Given the description of an element on the screen output the (x, y) to click on. 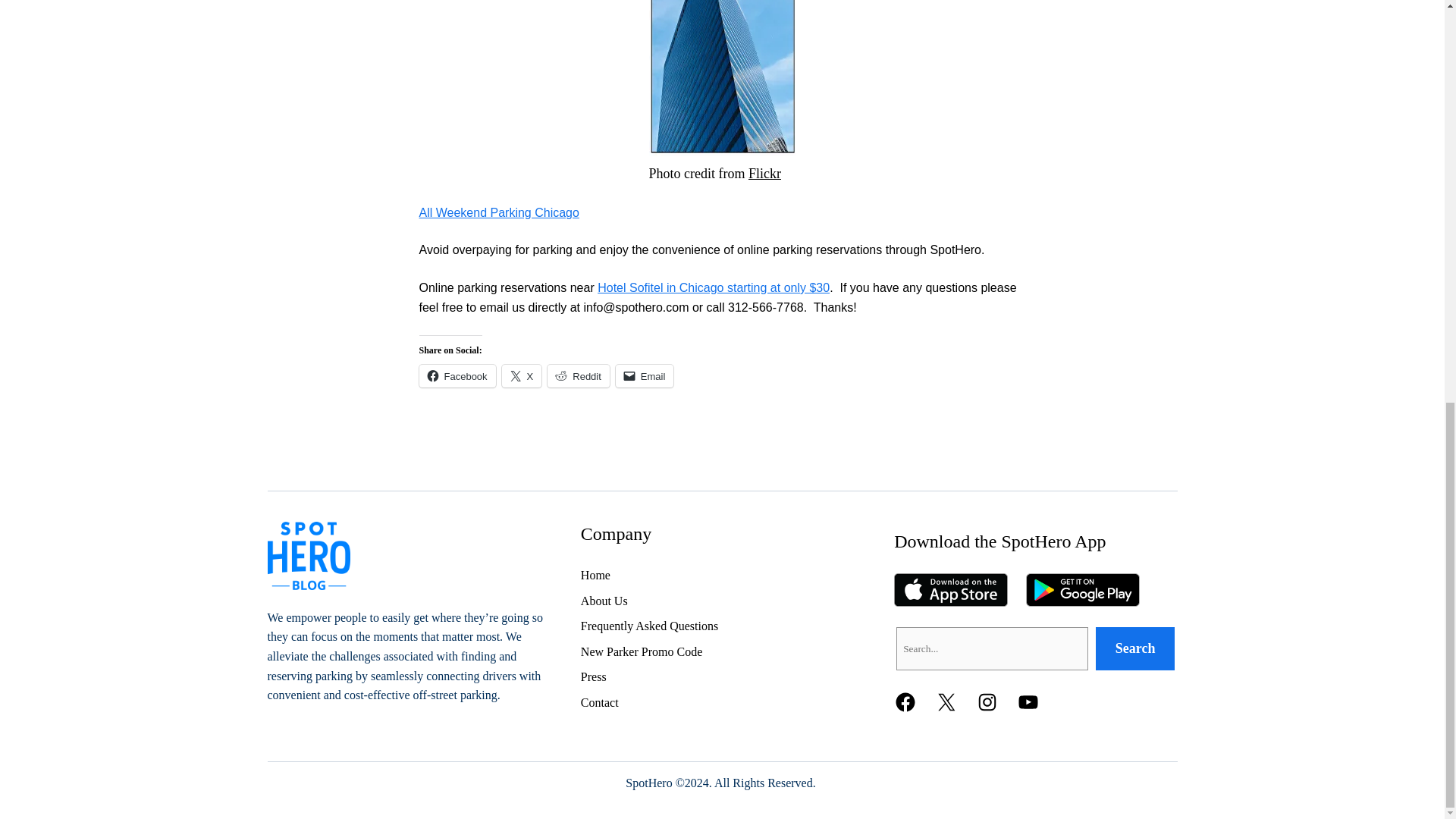
Facebook (457, 375)
Click to share on Facebook (457, 375)
Reddit (578, 375)
Click to share on Reddit (578, 375)
Hotel Sofitel (722, 78)
Click to email a link to a friend (644, 375)
All Weekend Parking Chicago (498, 212)
X (521, 375)
Click to share on X (521, 375)
Flickr (764, 173)
